Given the description of an element on the screen output the (x, y) to click on. 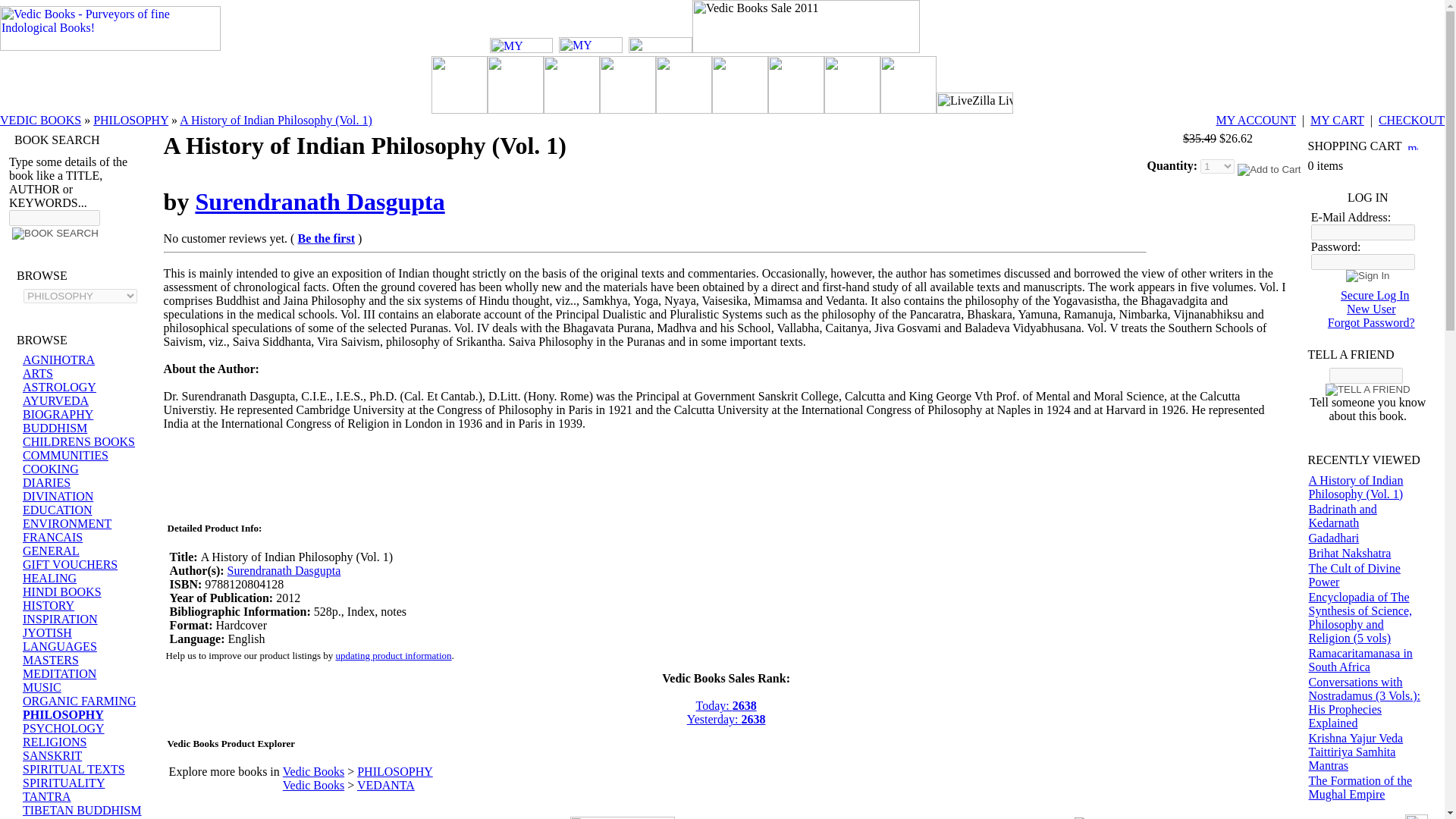
EDUCATION (58, 509)
COOKING (50, 468)
BUDDHISM (55, 427)
 Reviews  (622, 817)
 BOOK SEARCH  (55, 233)
 Vedic Books - Purveyors of fine Indological Books!  (110, 27)
DIVINATION (58, 495)
GENERAL (51, 550)
 Add to Cart  (1268, 169)
MY ACCOUNT (1255, 119)
